Given the description of an element on the screen output the (x, y) to click on. 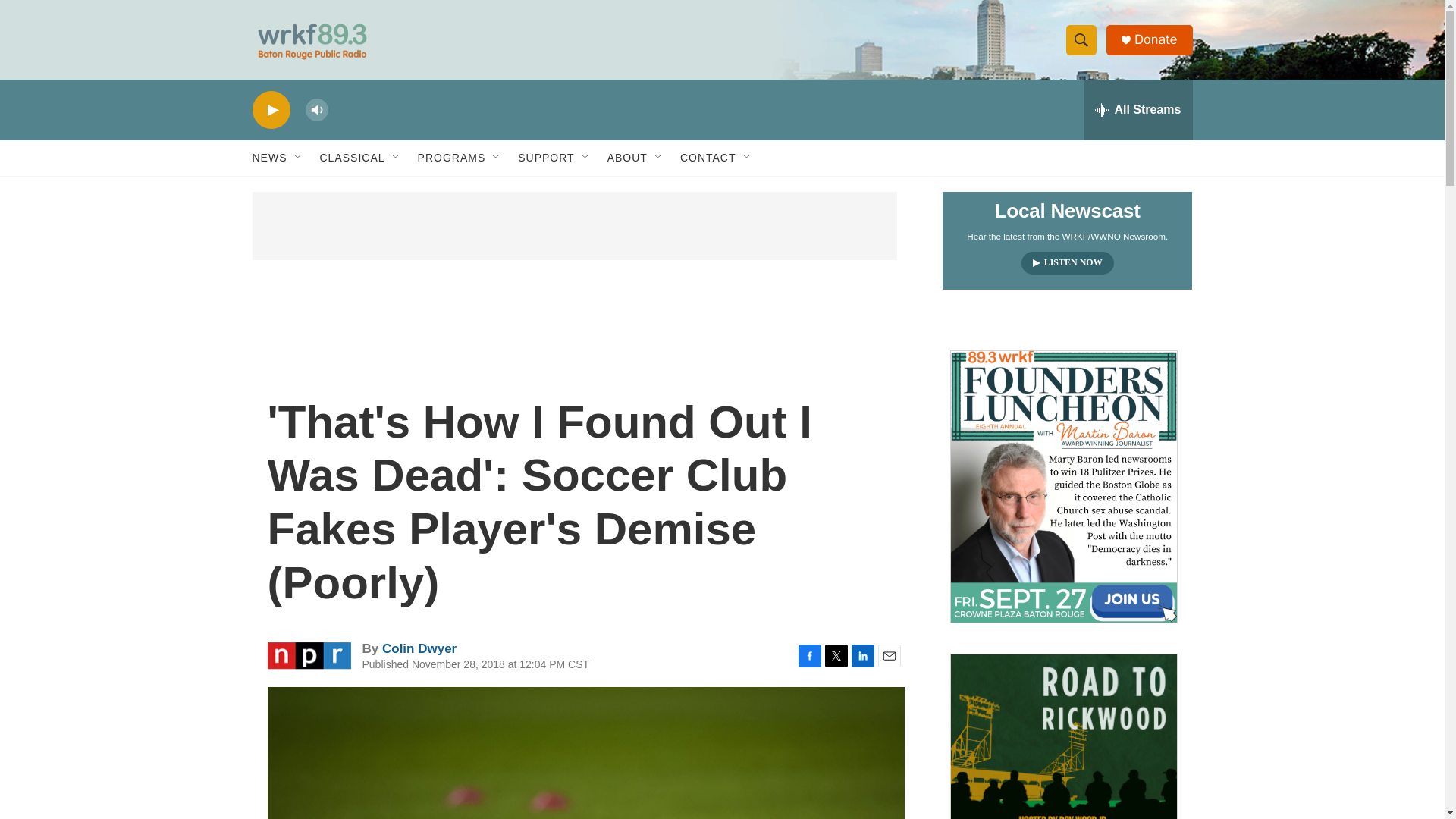
3rd party ad content (574, 225)
